Given the description of an element on the screen output the (x, y) to click on. 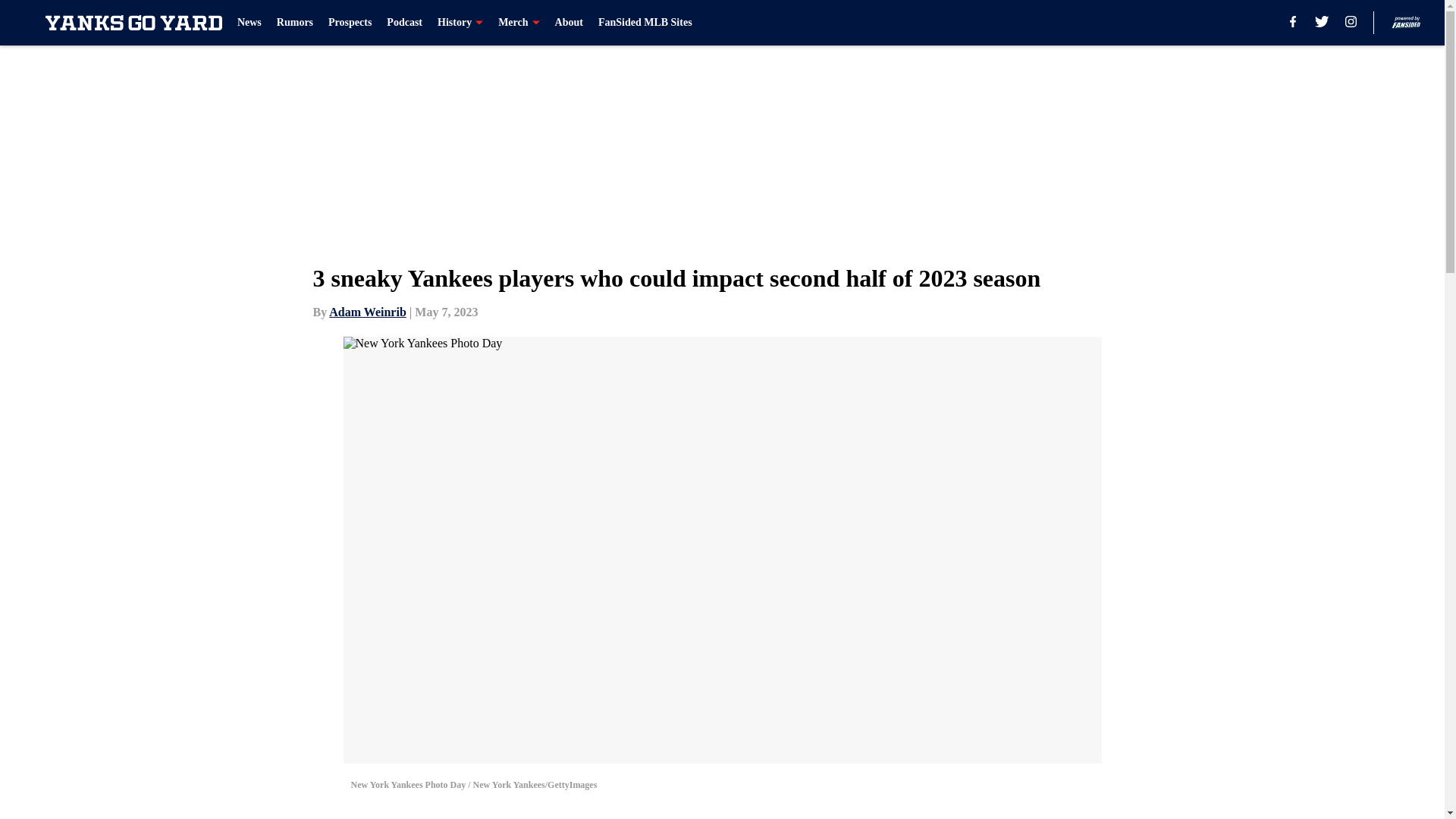
FanSided MLB Sites (645, 22)
Adam Weinrib (367, 311)
Rumors (294, 22)
News (249, 22)
Podcast (404, 22)
About (568, 22)
Prospects (350, 22)
